Given the description of an element on the screen output the (x, y) to click on. 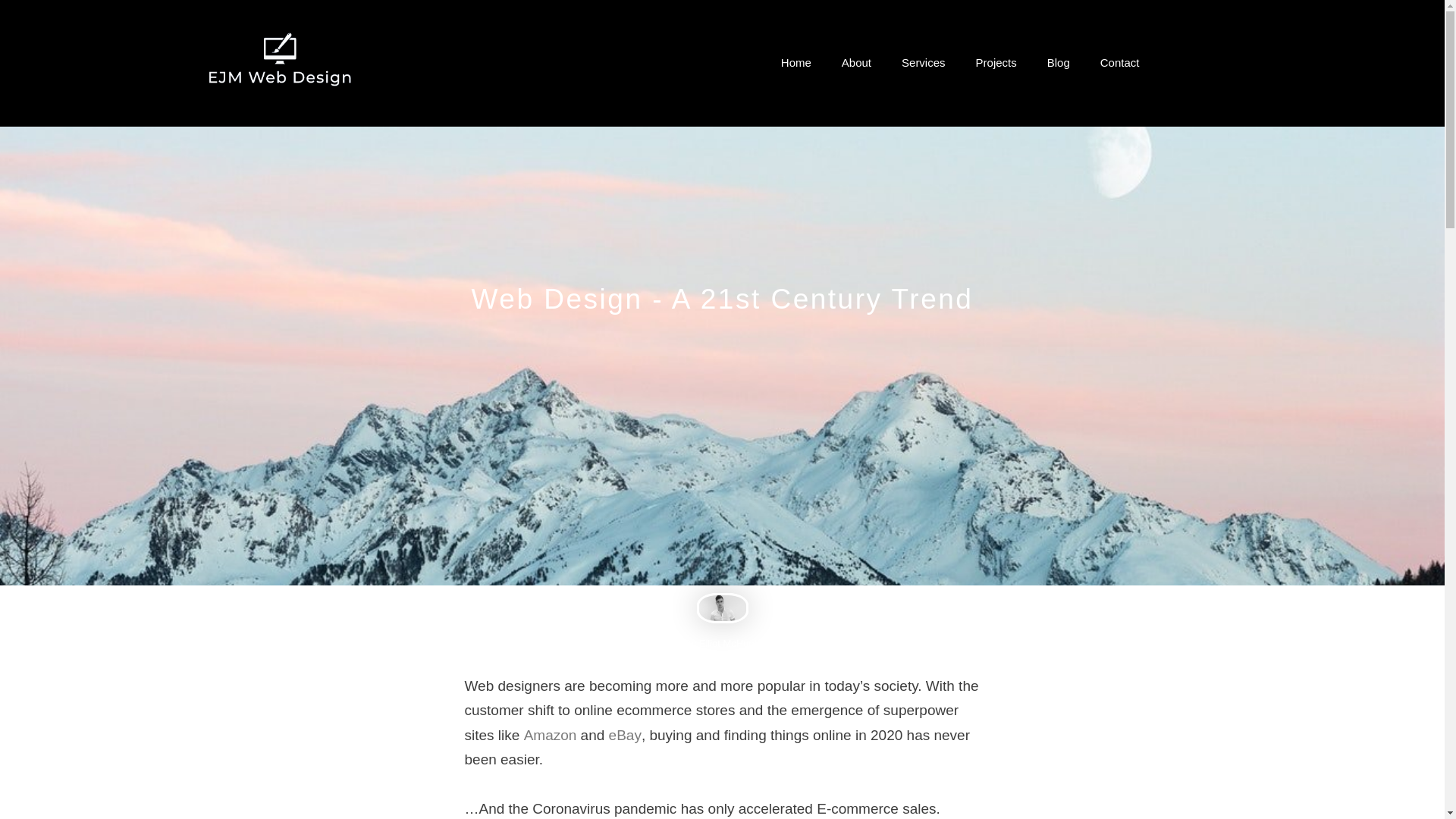
Projects (996, 62)
eBay (625, 734)
Amazon (550, 734)
Contact (1119, 62)
Services (923, 62)
